Given the description of an element on the screen output the (x, y) to click on. 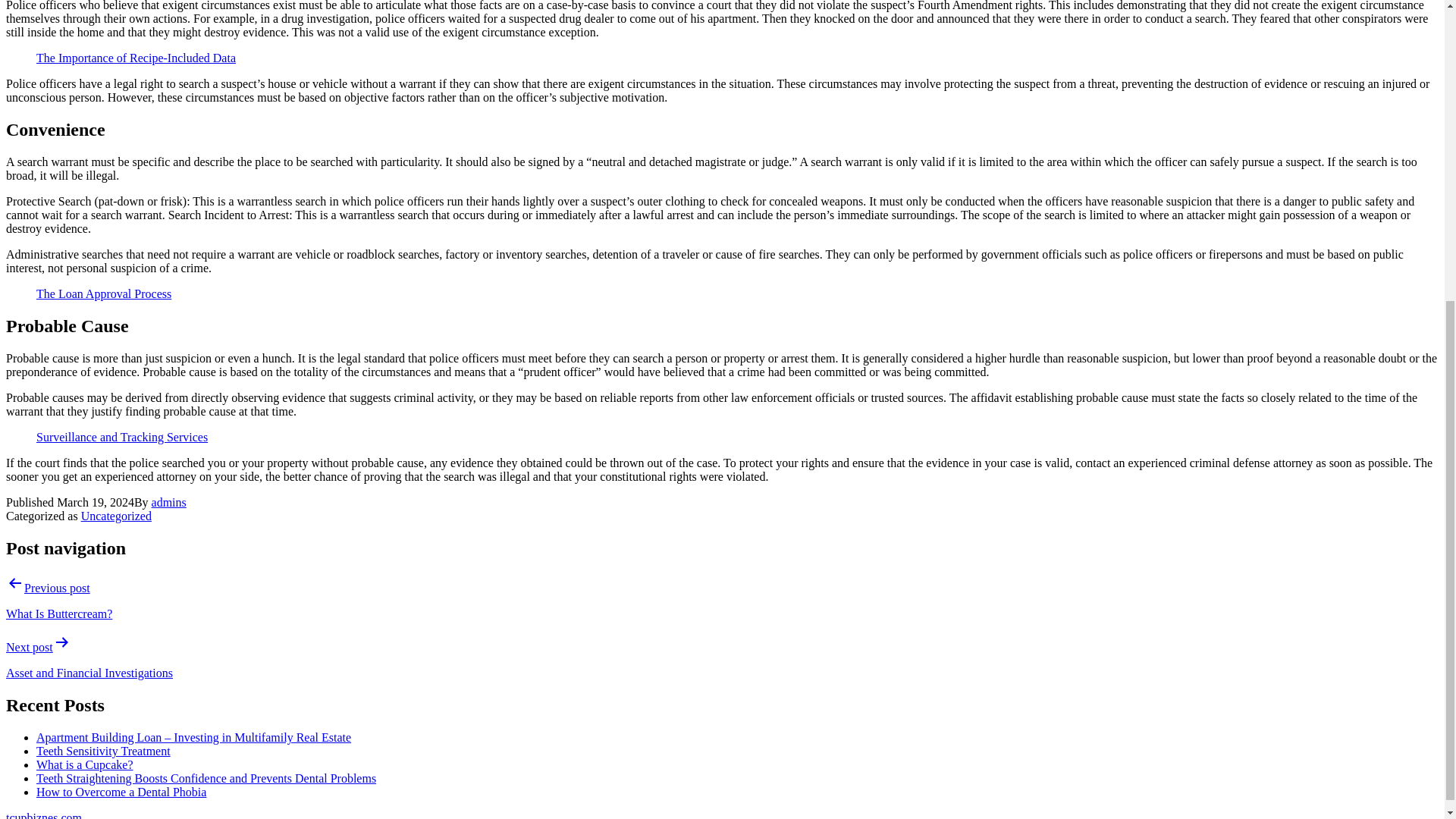
How to Overcome a Dental Phobia (121, 791)
Uncategorized (116, 515)
admins (168, 502)
Surveillance and Tracking Services (122, 436)
The Loan Approval Process (103, 293)
The Importance of Recipe-Included Data (135, 57)
What is a Cupcake? (84, 764)
Teeth Sensitivity Treatment (103, 750)
